Given the description of an element on the screen output the (x, y) to click on. 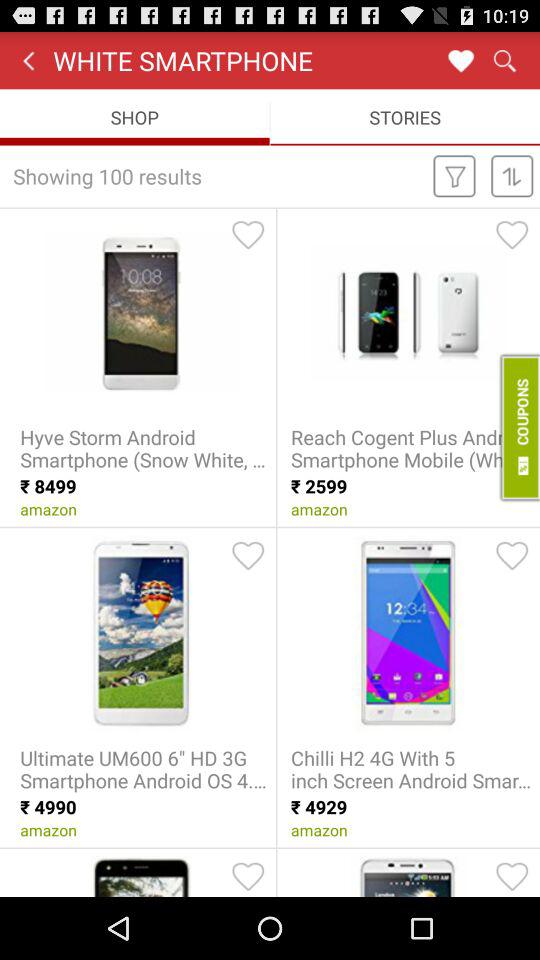
like item (248, 876)
